Given the description of an element on the screen output the (x, y) to click on. 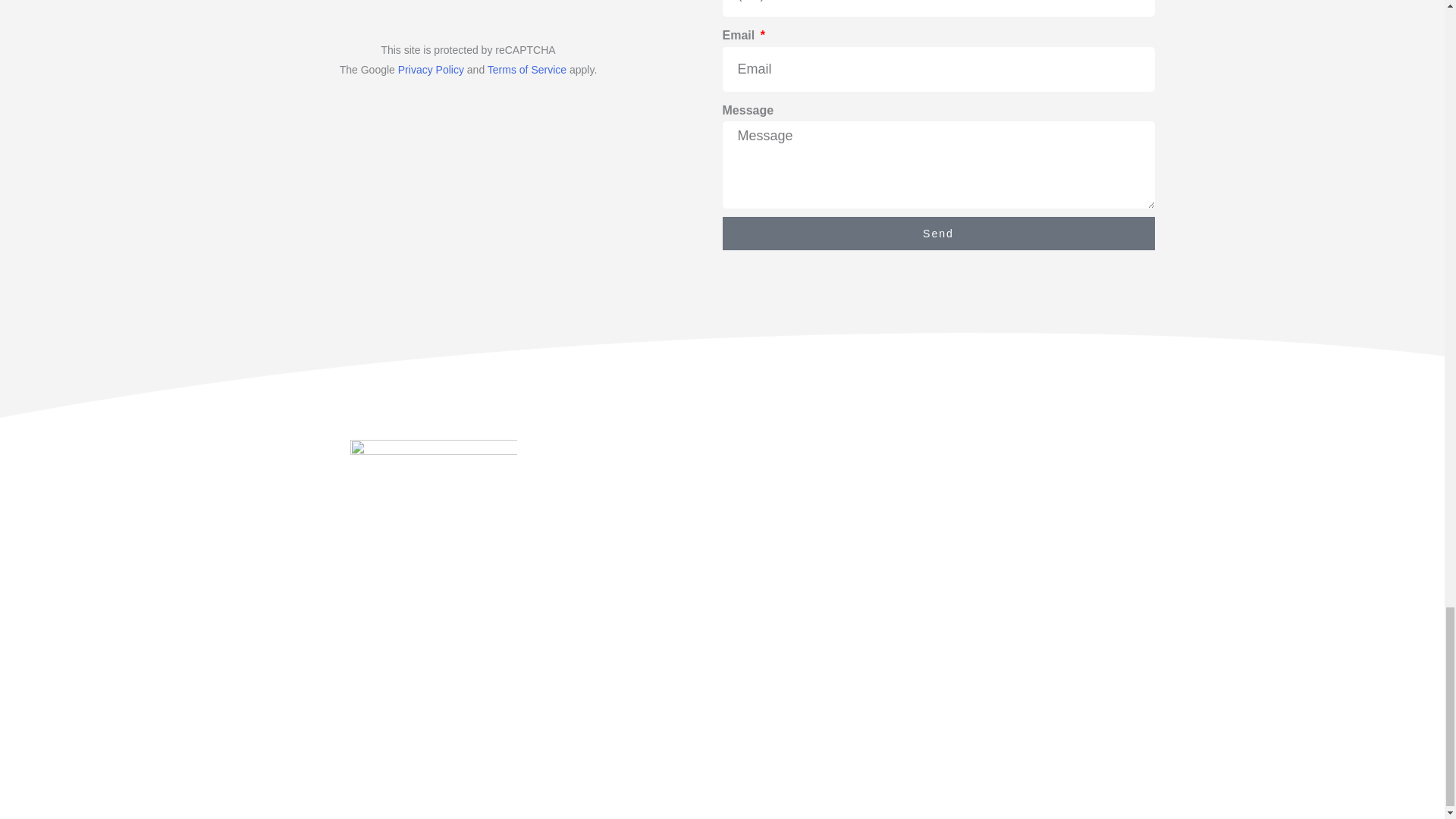
READ OUR PRIVACY POLICY (432, 630)
Terms of Service (526, 69)
Send (938, 233)
Privacy Policy (430, 69)
